Given the description of an element on the screen output the (x, y) to click on. 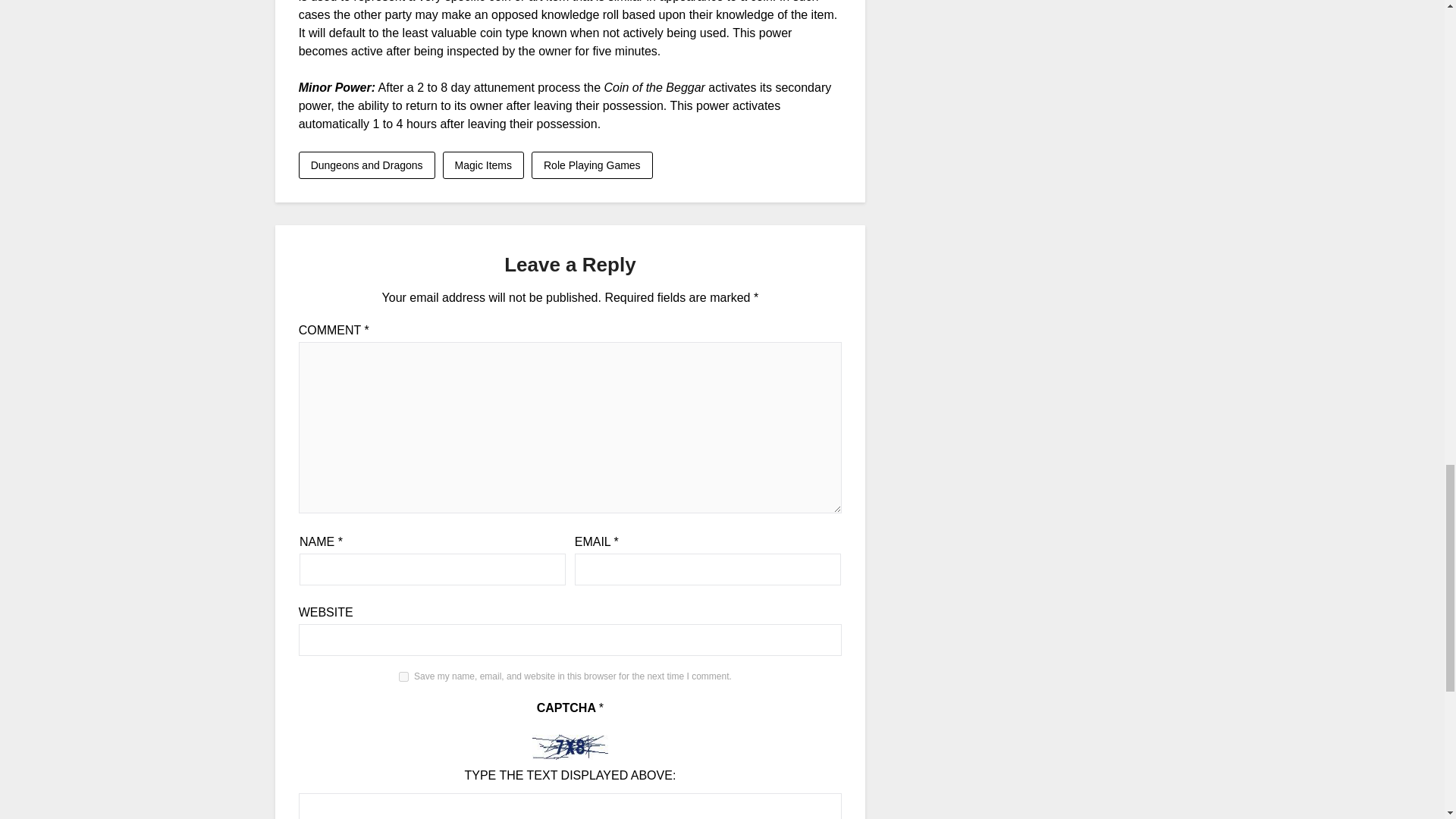
Dungeons and Dragons (366, 165)
Magic Items (483, 165)
Role Playing Games (591, 165)
yes (403, 676)
